Given the description of an element on the screen output the (x, y) to click on. 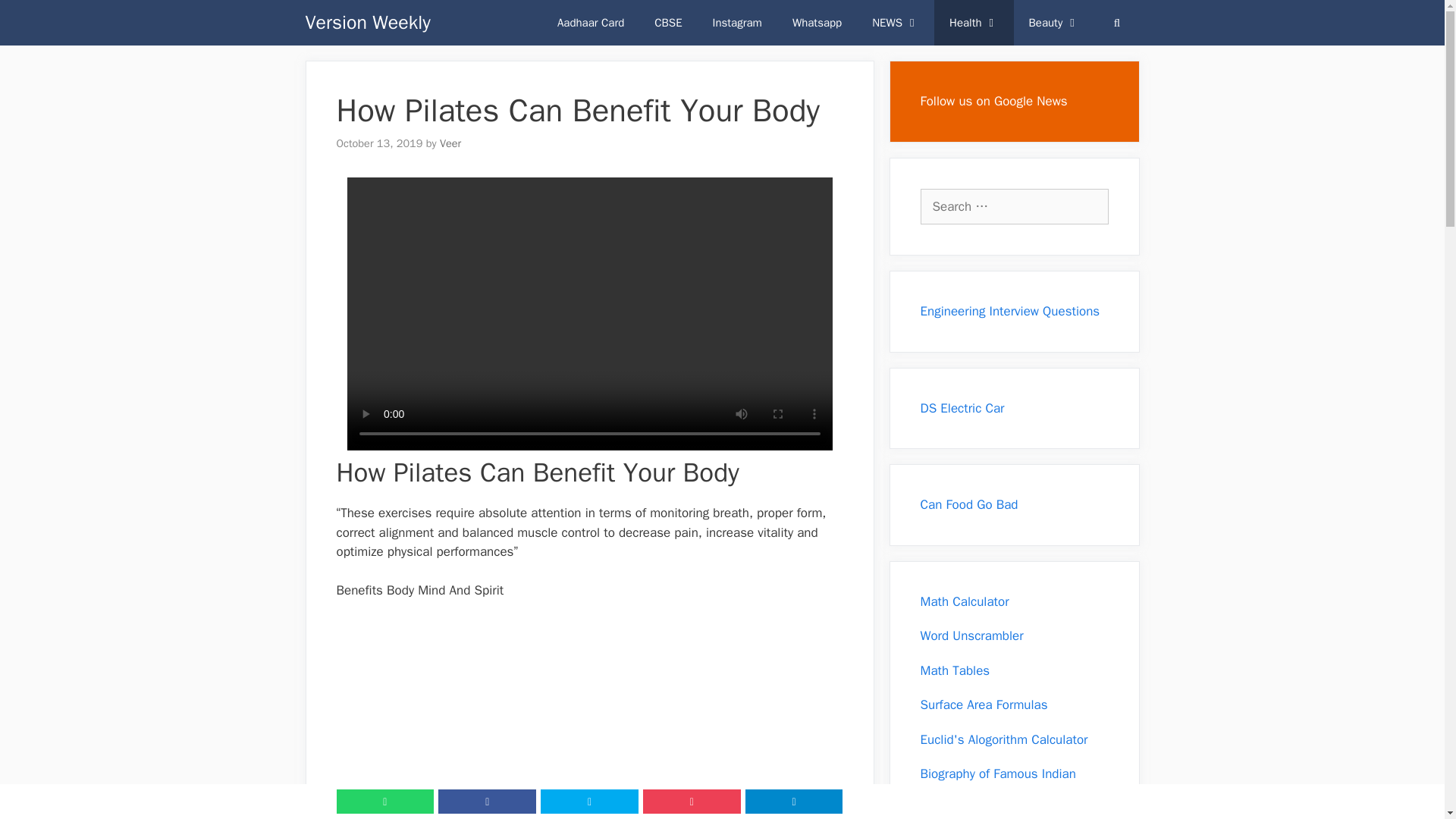
DS Electric Car (962, 408)
Whatsapp (817, 22)
Veer (450, 142)
View all posts by Veer (450, 142)
Beauty (1053, 22)
Follow us on Google News (993, 100)
Aadhaar Card (590, 22)
Search (33, 17)
Health (973, 22)
NEWS (895, 22)
Advertisement (589, 719)
Engineering Interview Questions (1010, 311)
Version Weekly (366, 22)
Instagram (737, 22)
Search for: (1014, 206)
